Given the description of an element on the screen output the (x, y) to click on. 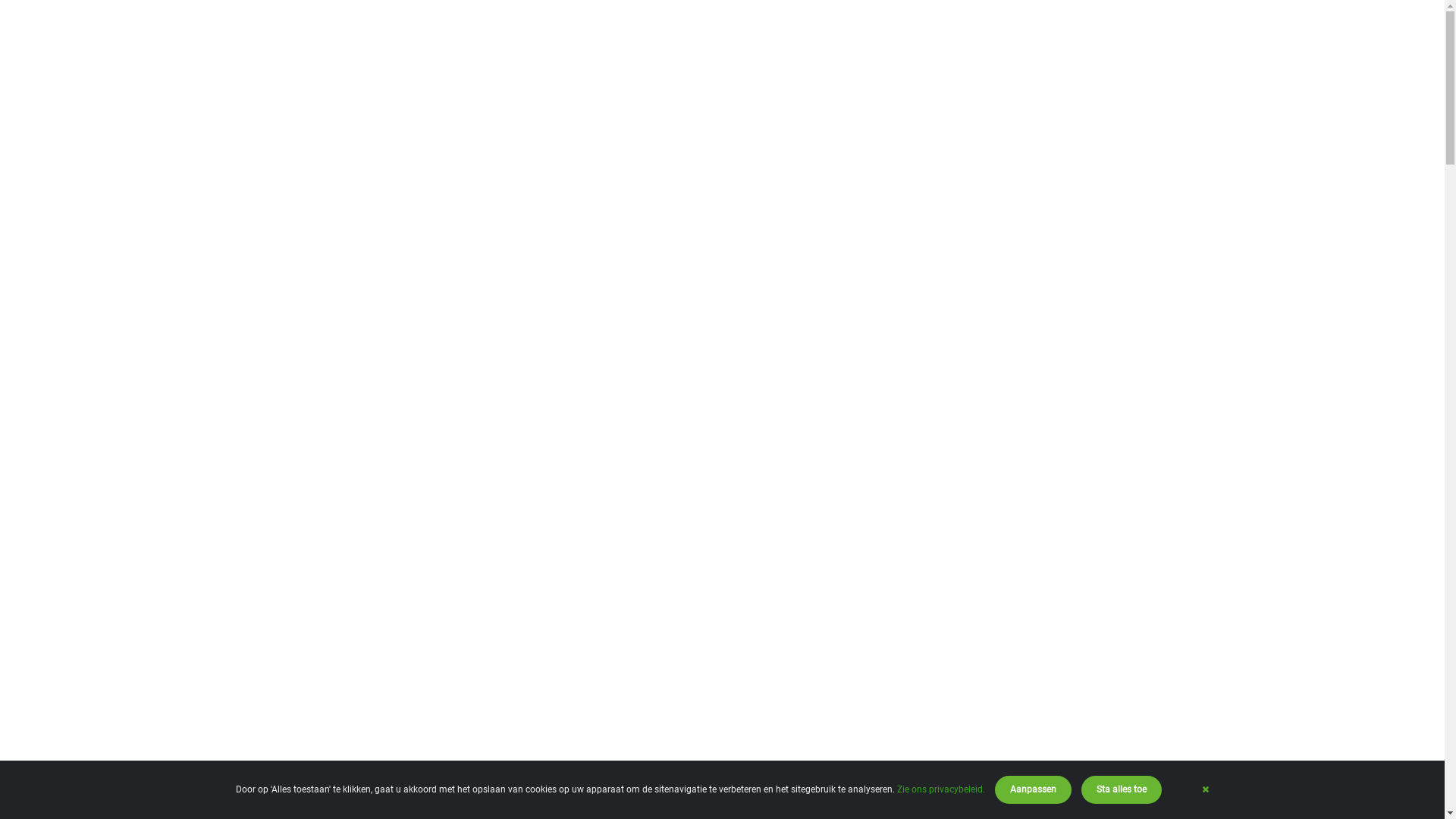
Aanpassen Element type: text (1032, 789)
Zie ons privacybeleid. Element type: text (941, 789)
Sta alles toe Element type: text (1121, 789)
